Given the description of an element on the screen output the (x, y) to click on. 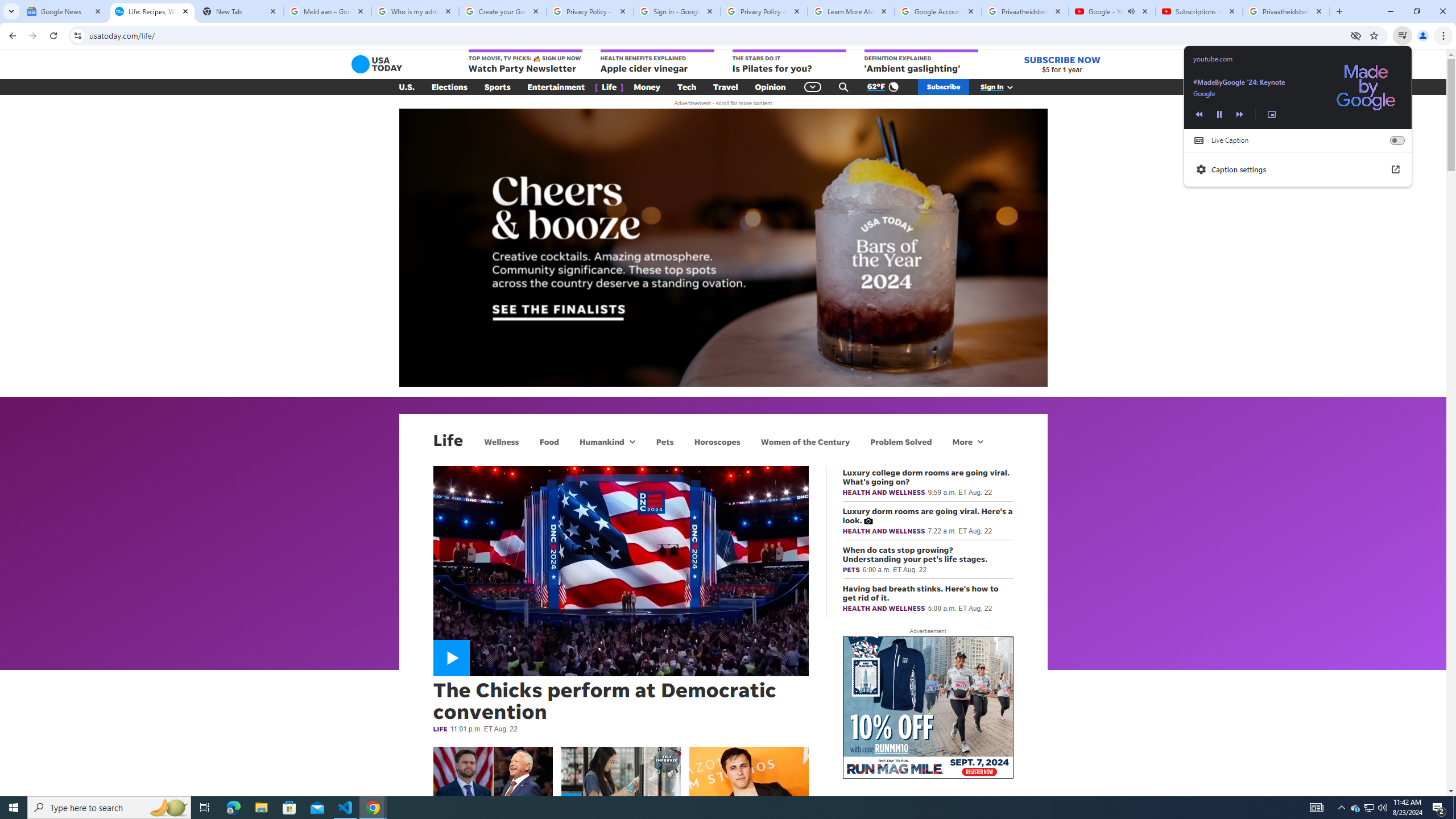
Live Caption (1397, 140)
Food (549, 441)
Q2790: 100% (1382, 807)
Running applications (717, 807)
Chrome (1445, 35)
Subscribe (943, 87)
Google Chrome - 2 running windows (373, 807)
Money (646, 87)
Enter picture-in-picture (1270, 114)
Create your Google Account (502, 11)
U.S. (406, 87)
